Given the description of an element on the screen output the (x, y) to click on. 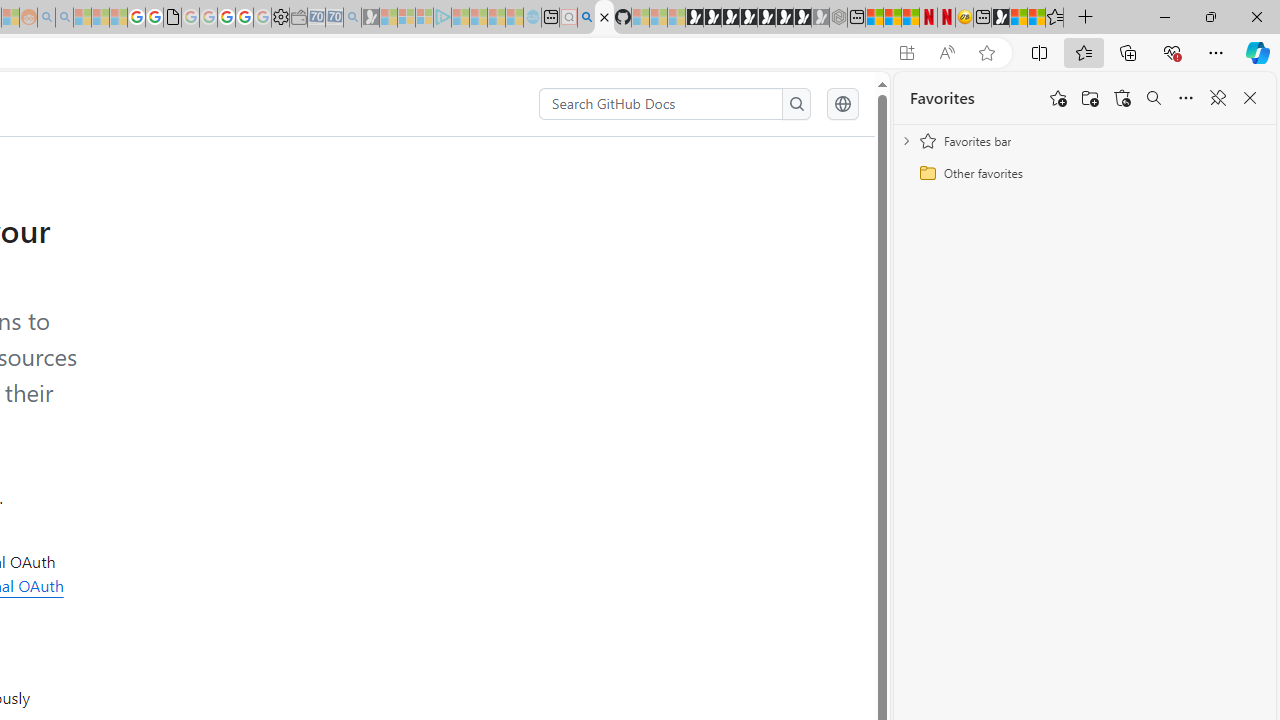
App available. Install GitHub Docs (906, 53)
Wildlife - MSN (1017, 17)
github - Search (586, 17)
